Given the description of an element on the screen output the (x, y) to click on. 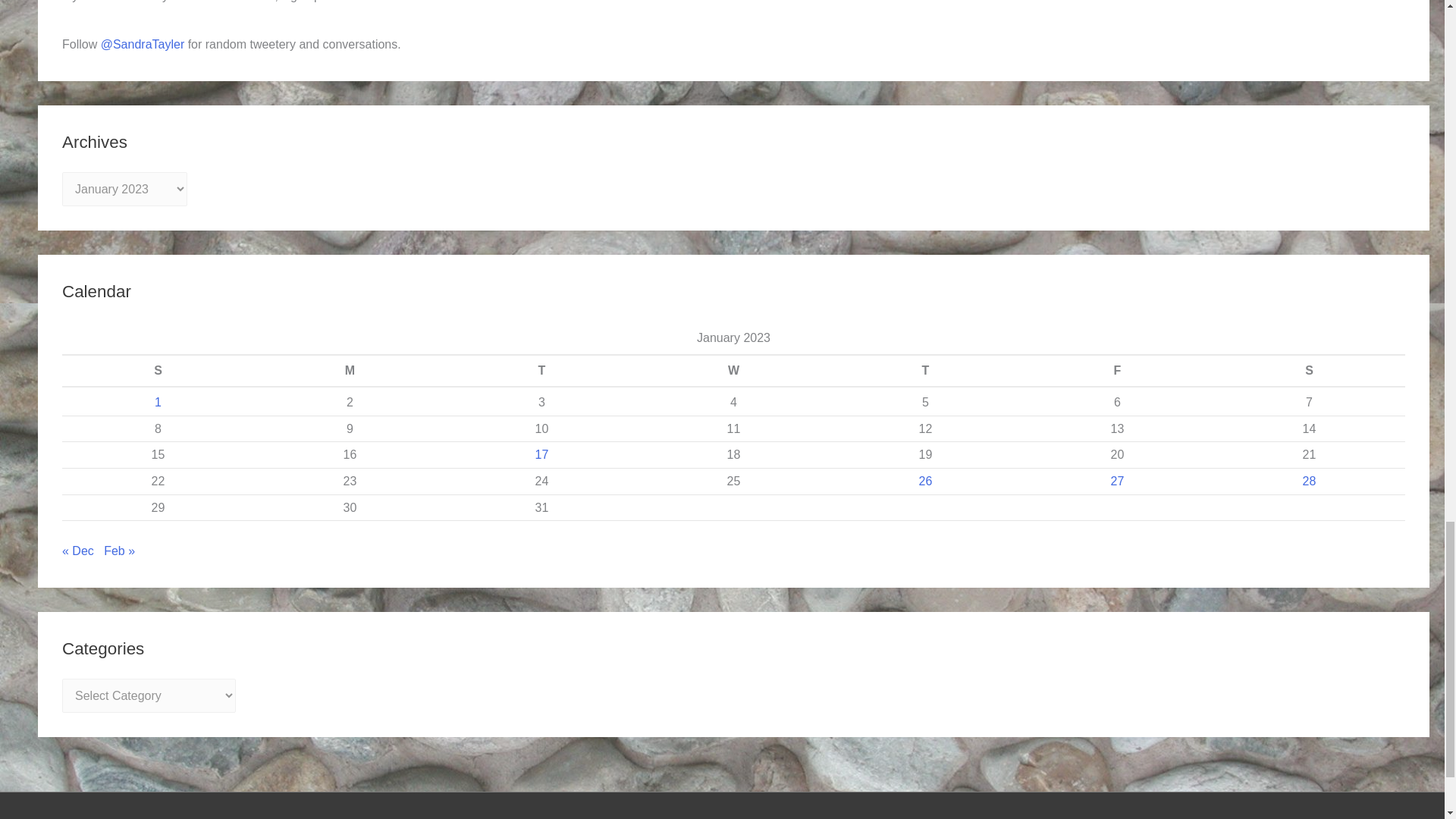
Sunday (157, 370)
26 (925, 481)
Thursday (925, 370)
Friday (1117, 370)
Wednesday (733, 370)
Tuesday (541, 370)
27 (1117, 481)
Letters from Sandra (408, 1)
28 (1309, 481)
Monday (349, 370)
